Given the description of an element on the screen output the (x, y) to click on. 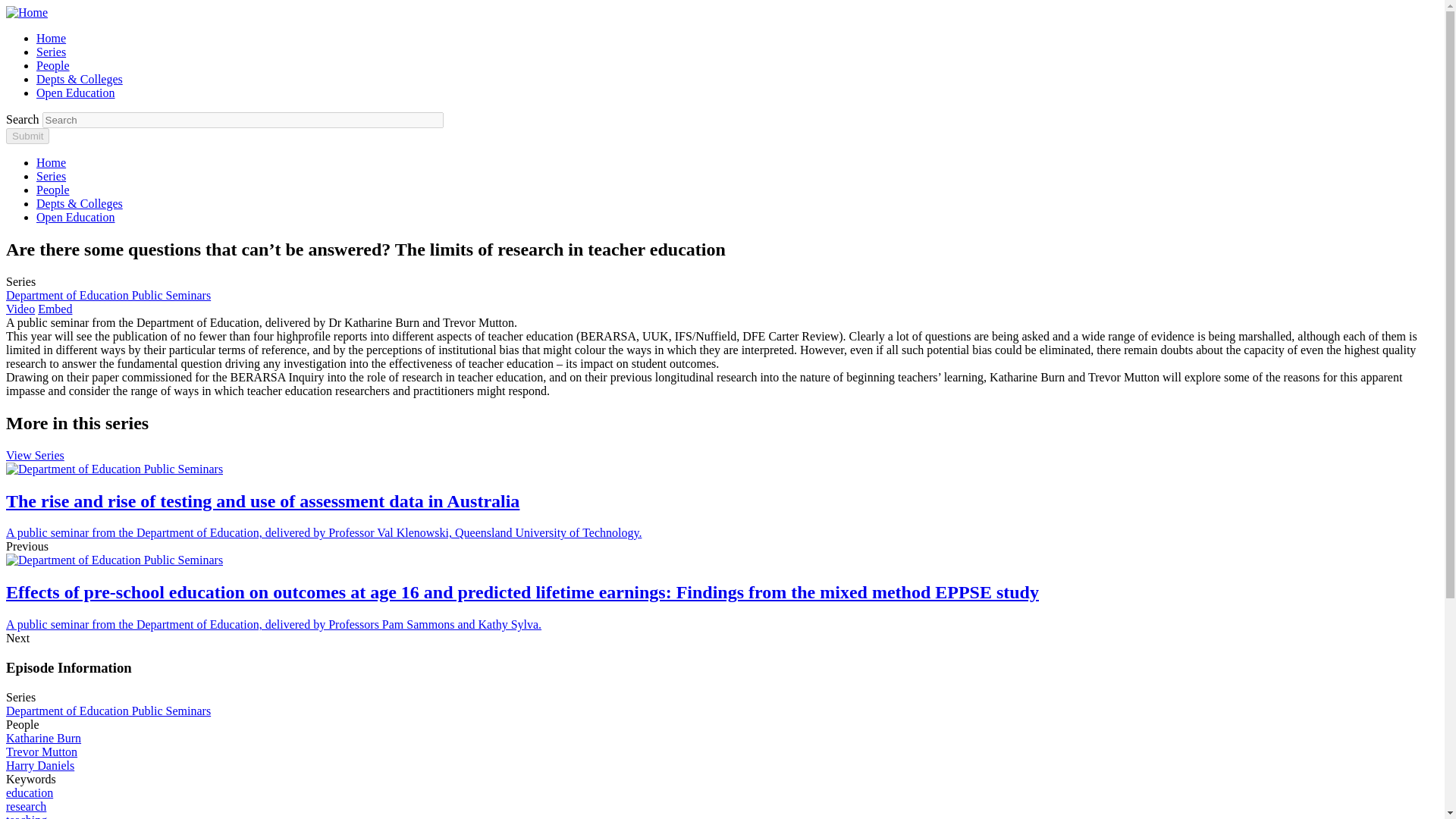
Series (50, 175)
Harry Daniels (39, 765)
research (25, 806)
Department of Education Public Seminars (108, 295)
Submit (27, 135)
education (28, 792)
Submit (27, 135)
teaching (25, 816)
Katharine Burn (43, 738)
People (52, 65)
Embed (54, 308)
Open Education (75, 216)
People (52, 189)
Home (50, 162)
